Given the description of an element on the screen output the (x, y) to click on. 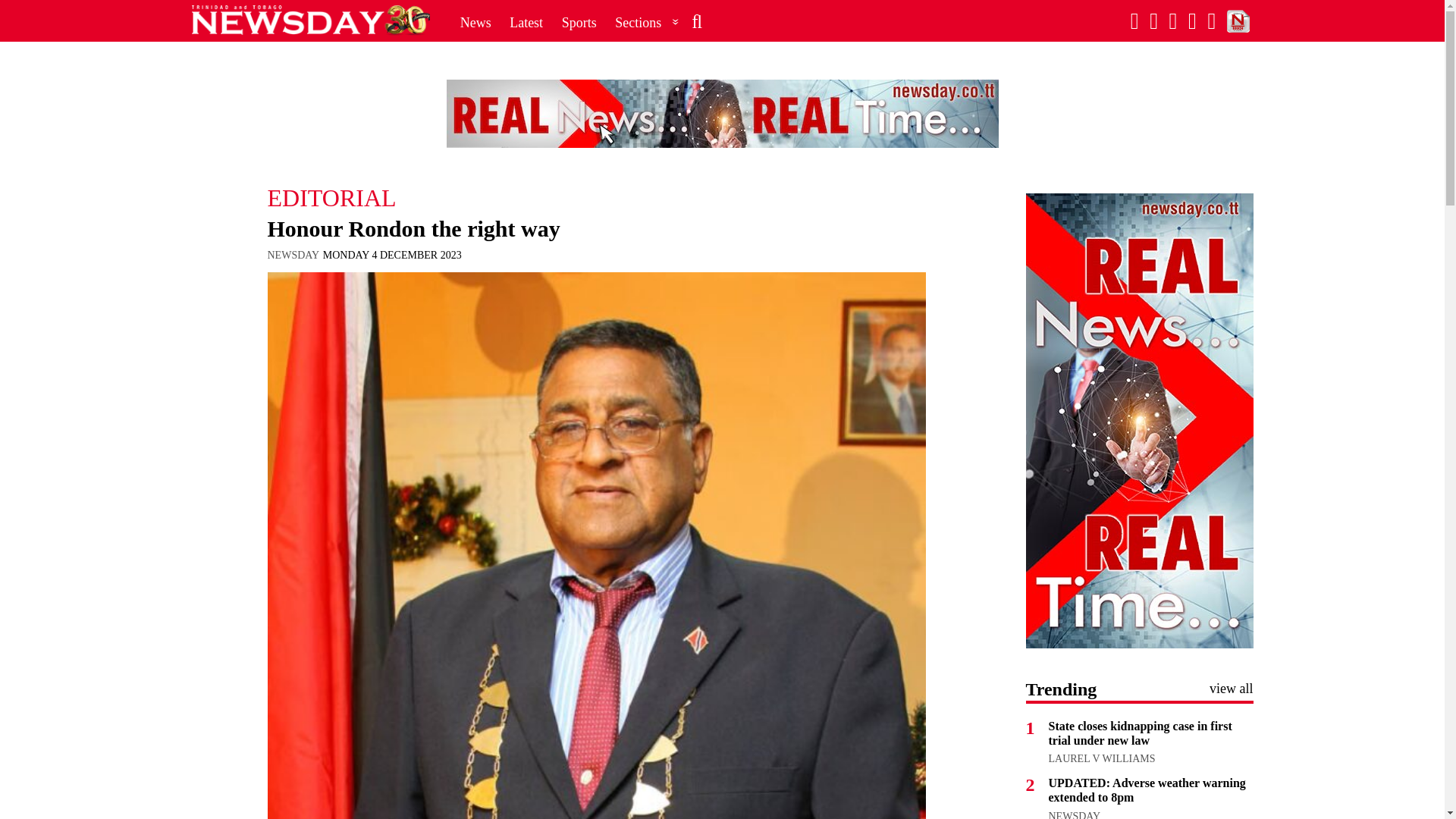
Sections (647, 22)
NEWSDAY (292, 255)
State closes kidnapping case in first trial under new law (1139, 732)
Latest (526, 22)
NEWSDAY (1074, 814)
LAUREL V WILLIAMS (1101, 758)
UPDATED: Adverse weather warning extended to 8pm (1146, 789)
Sections (647, 22)
Sports (579, 22)
News (475, 22)
EDITORIAL (595, 197)
Monday 4 December 2023 (392, 254)
